Given the description of an element on the screen output the (x, y) to click on. 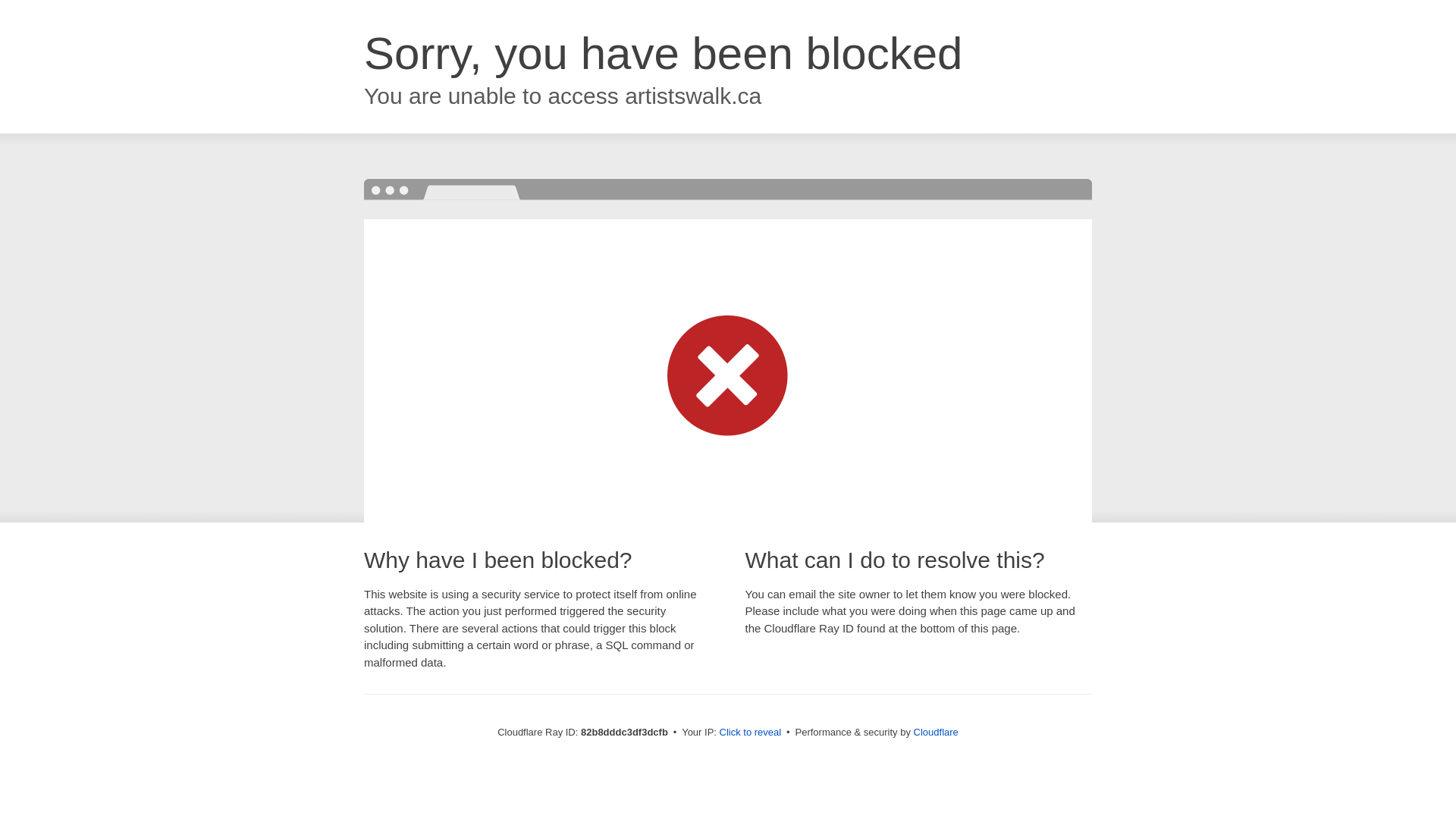
Cloudflare Element type: text (935, 731)
Click to reveal Element type: text (750, 732)
